Given the description of an element on the screen output the (x, y) to click on. 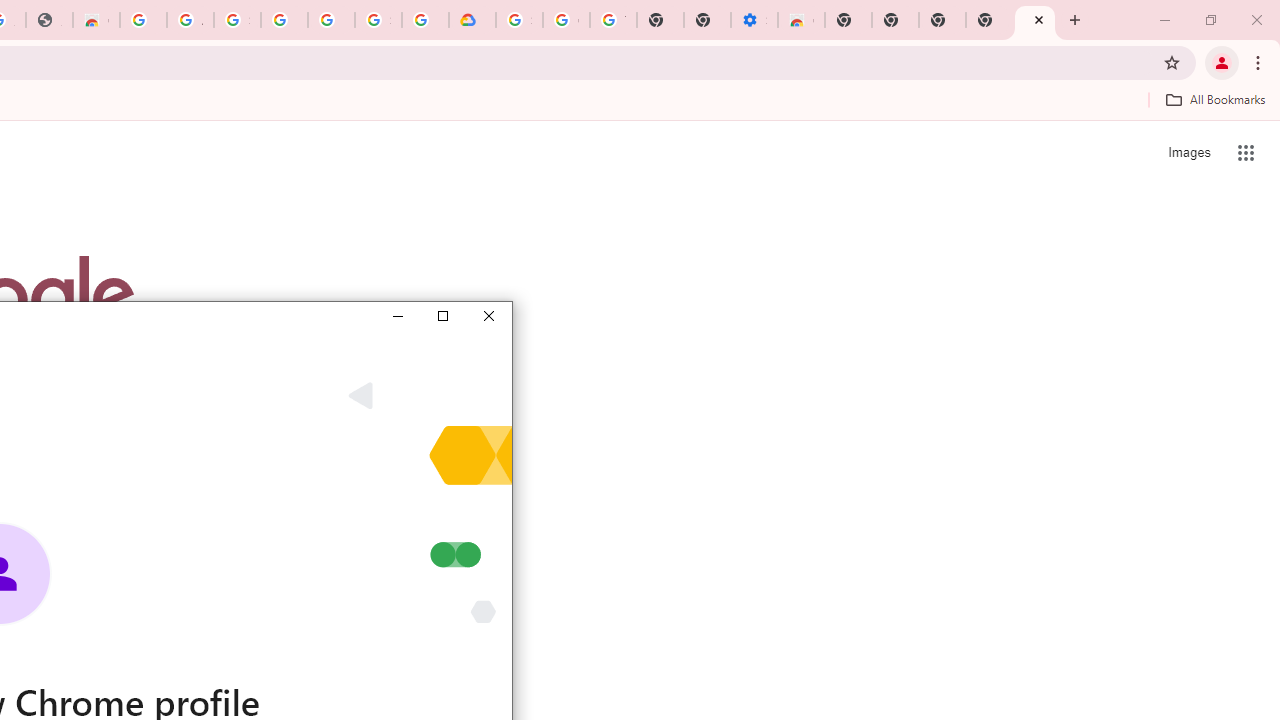
Search for Images  (1188, 152)
Sign in - Google Accounts (377, 20)
New Tab (989, 20)
Chrome Web Store - Accessibility extensions (801, 20)
Google Account Help (566, 20)
New Tab (848, 20)
